Given the description of an element on the screen output the (x, y) to click on. 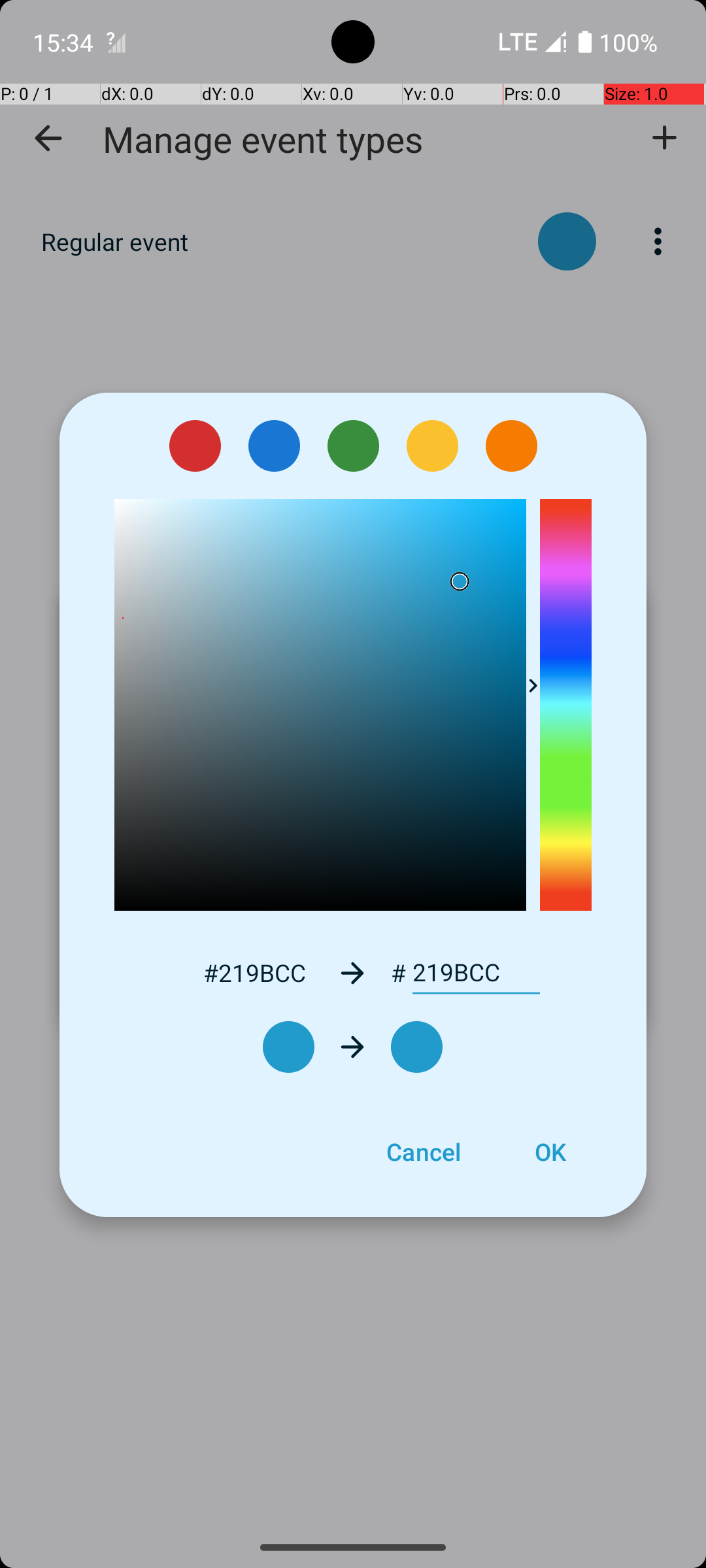
#219BCC Element type: android.widget.TextView (254, 972)
219BCC Element type: android.widget.EditText (475, 972)
